Given the description of an element on the screen output the (x, y) to click on. 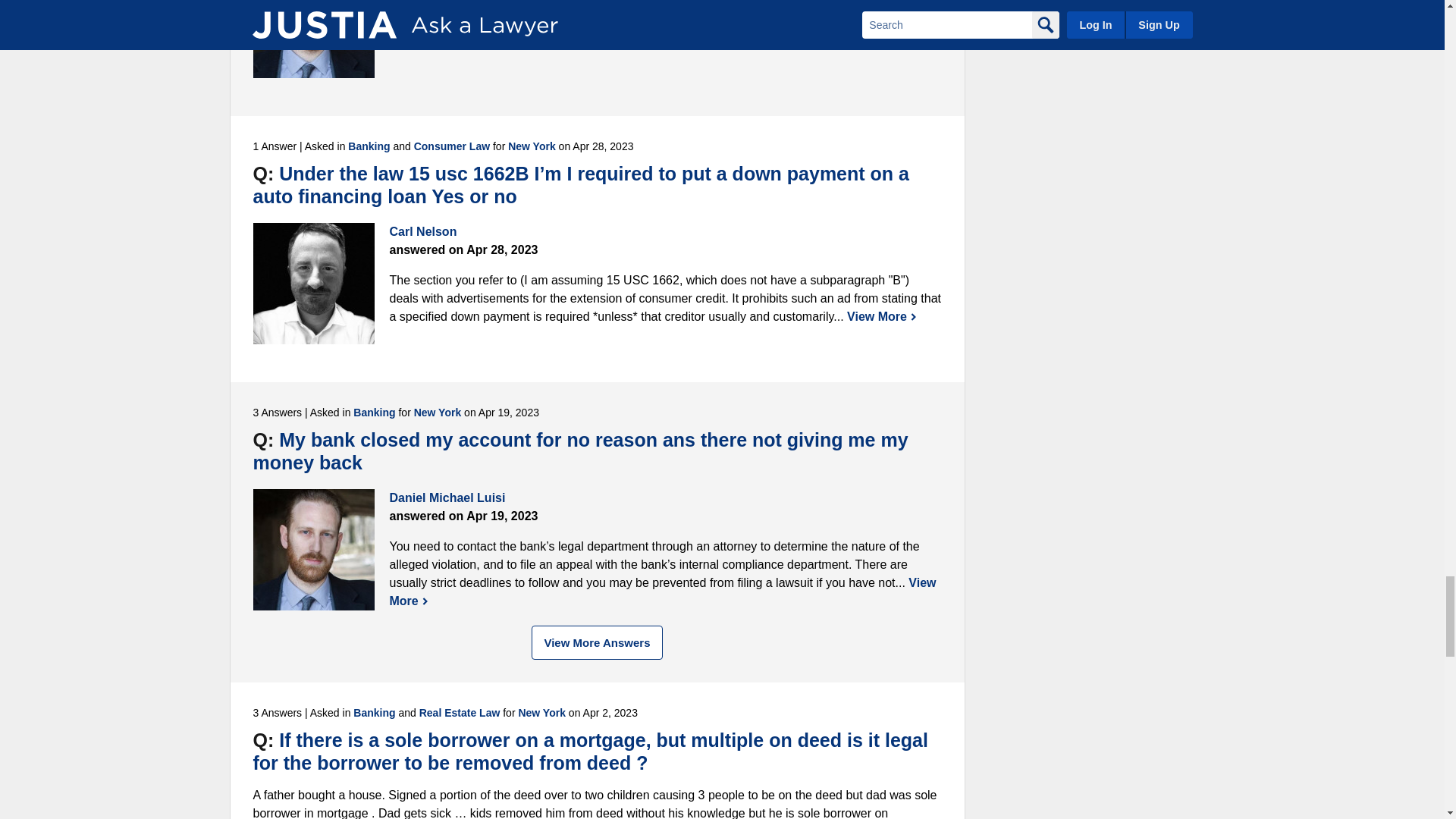
Carl Nelson (313, 282)
Daniel Michael Luisi (313, 549)
Daniel Michael Luisi (313, 38)
